Given the description of an element on the screen output the (x, y) to click on. 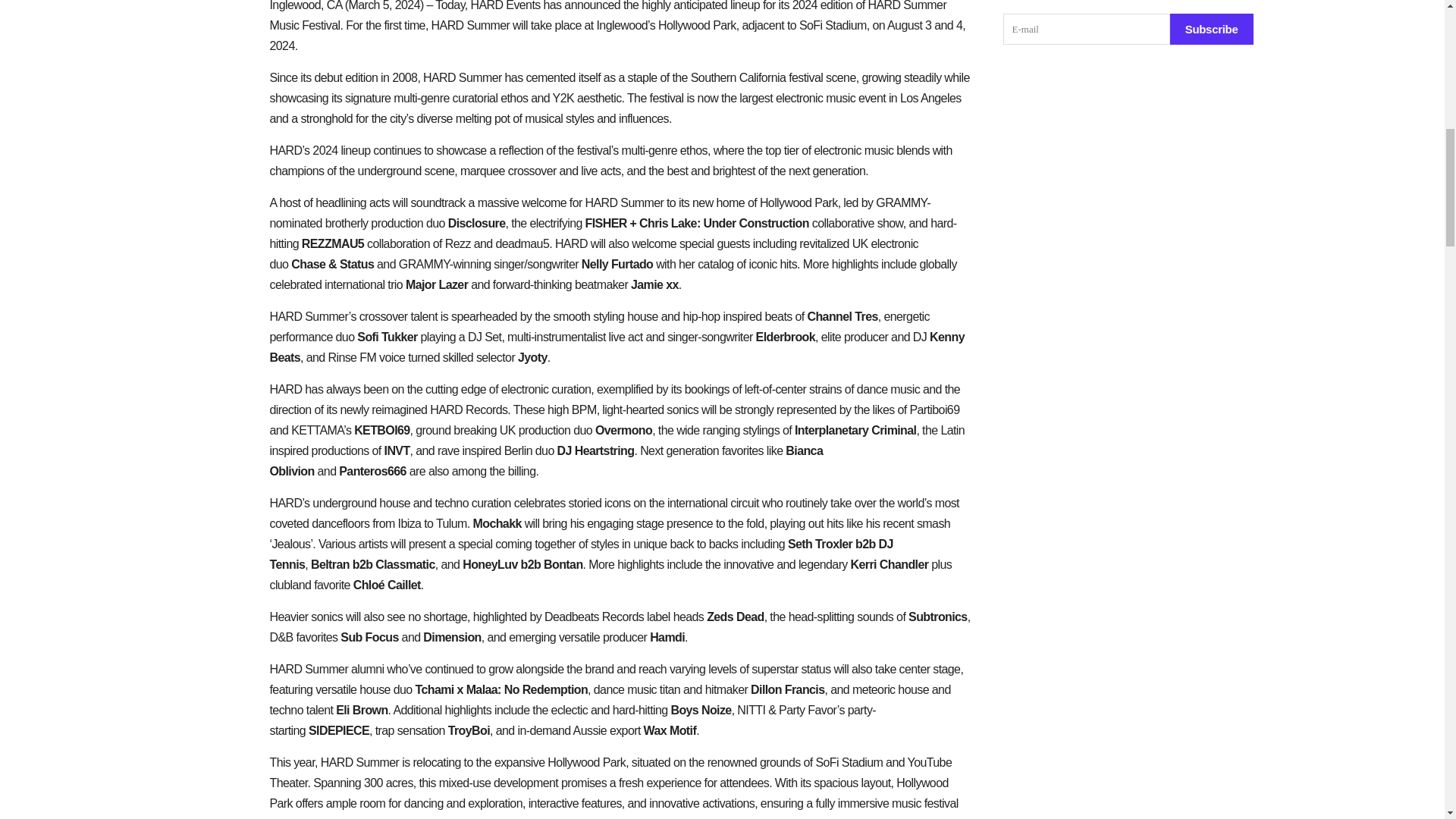
Subscribe (1211, 29)
E-mail (1086, 29)
